Given the description of an element on the screen output the (x, y) to click on. 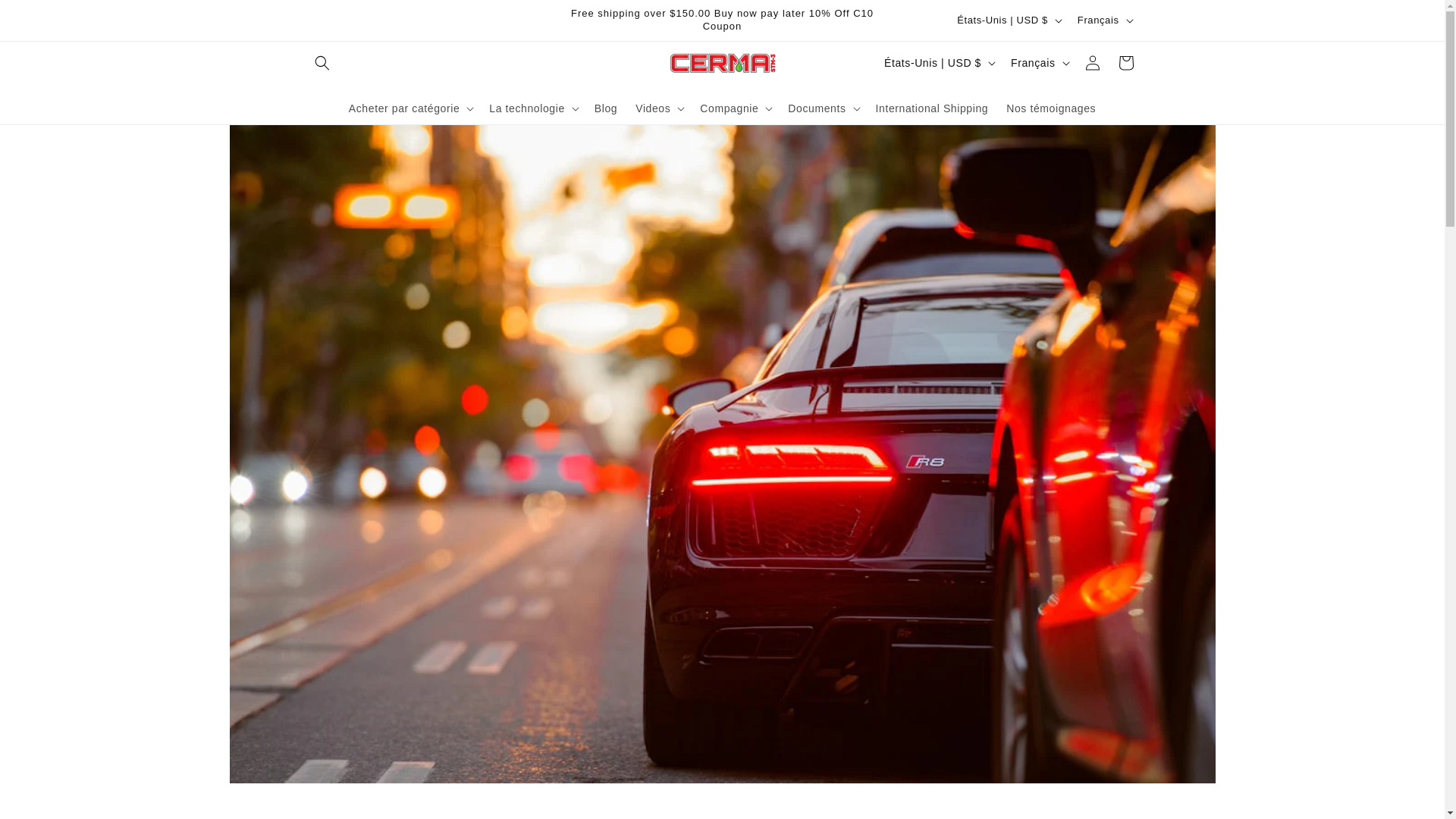
Ignorer et passer au contenu (45, 17)
